Given the description of an element on the screen output the (x, y) to click on. 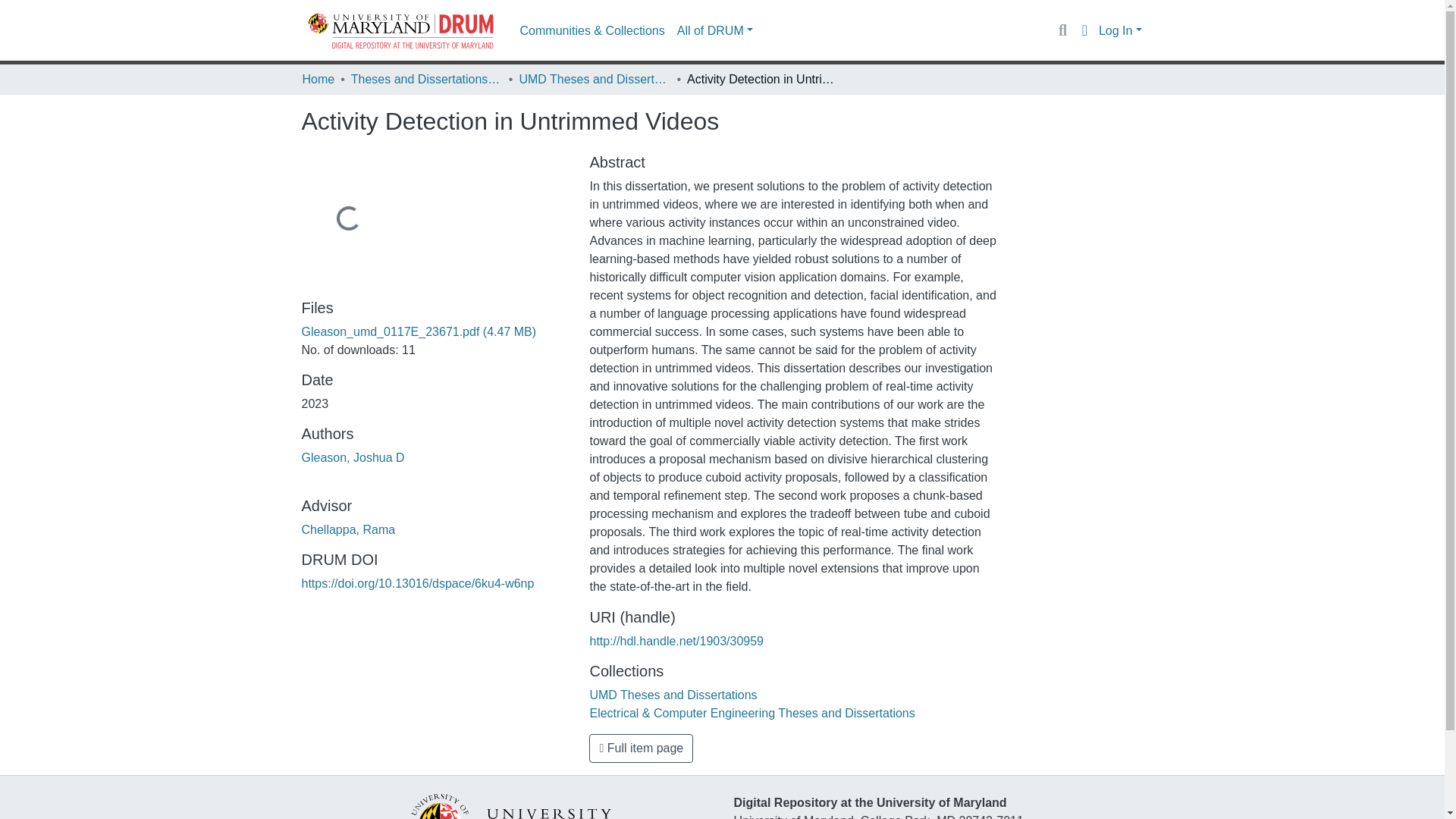
Log In (1119, 30)
Home (317, 79)
Search (1061, 30)
Full item page (641, 747)
Language switch (1084, 30)
Theses and Dissertations from UMD (426, 79)
UMD Theses and Dissertations (673, 694)
Gleason, Joshua D (352, 457)
All of DRUM (714, 30)
